Given the description of an element on the screen output the (x, y) to click on. 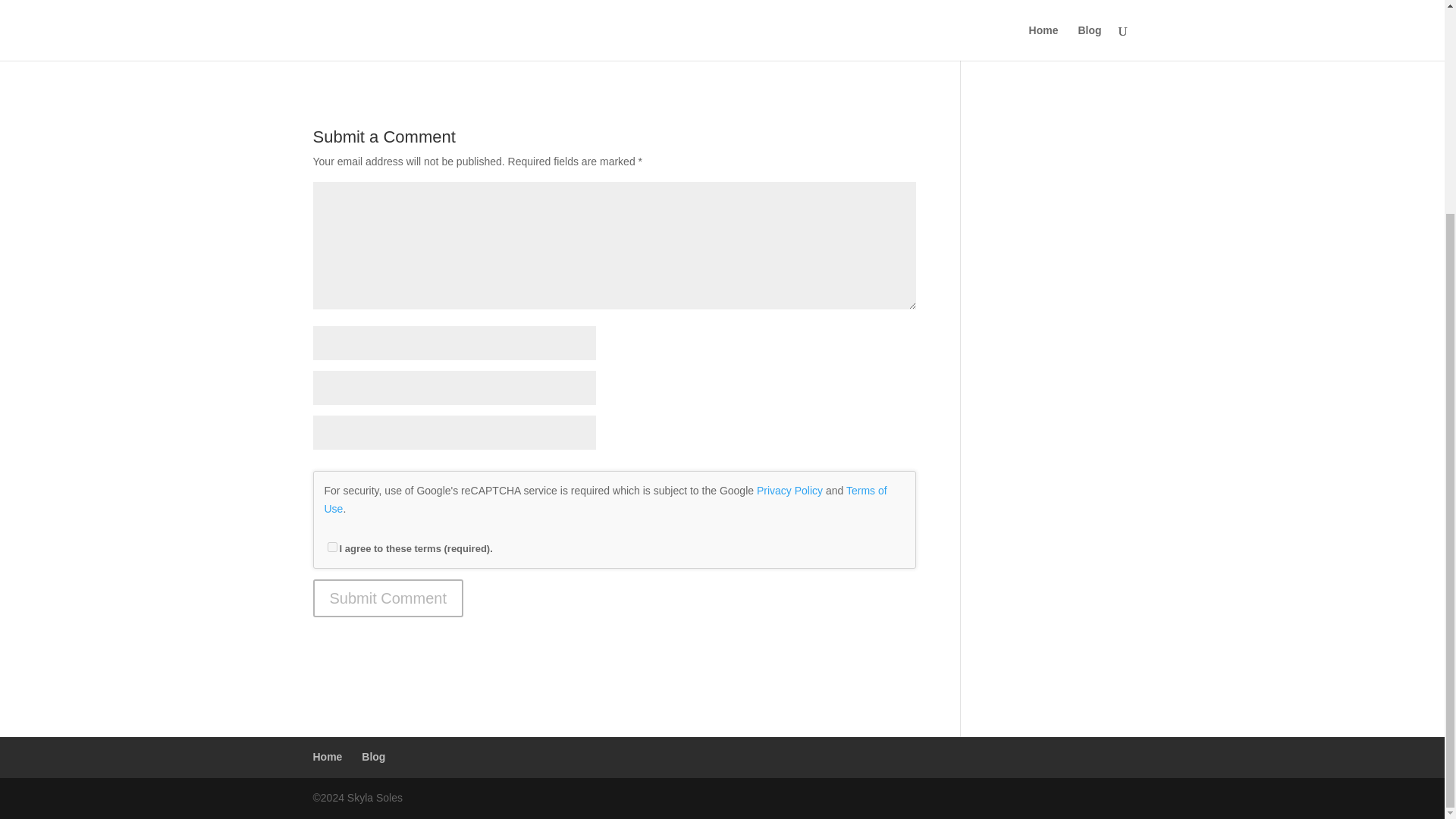
Submit Comment (388, 598)
Home (327, 756)
on (332, 547)
Terms of Use (605, 499)
Submit Comment (388, 598)
Blog (373, 756)
Privacy Policy (789, 490)
